Given the description of an element on the screen output the (x, y) to click on. 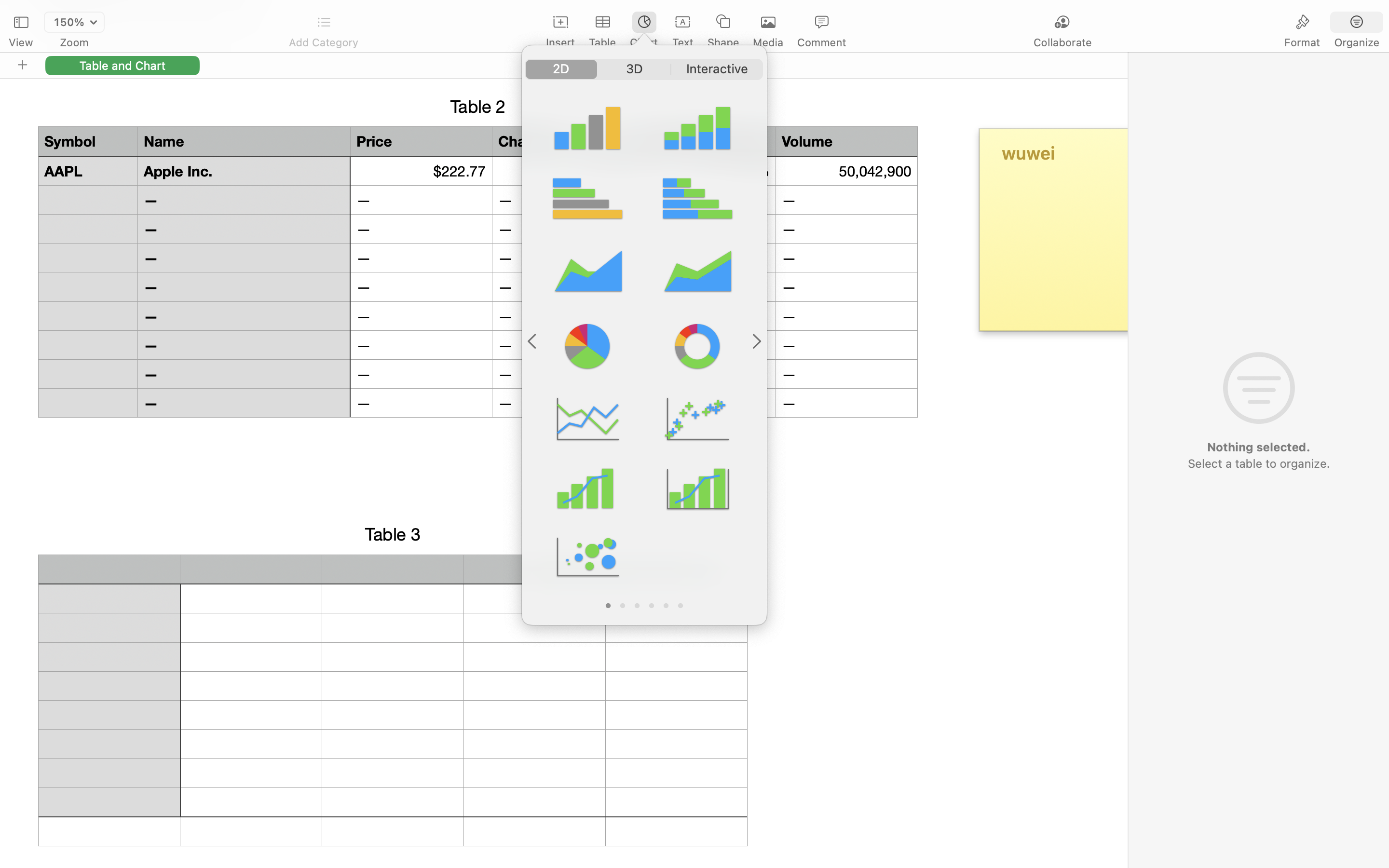
<AXUIElement 0x17f4d9eb0> {pid=1420} Element type: AXGroup (1329, 22)
Organize Element type: AXStaticText (1356, 42)
Insert Element type: AXStaticText (560, 42)
Table and Chart Element type: AXStaticText (122, 64)
